Given the description of an element on the screen output the (x, y) to click on. 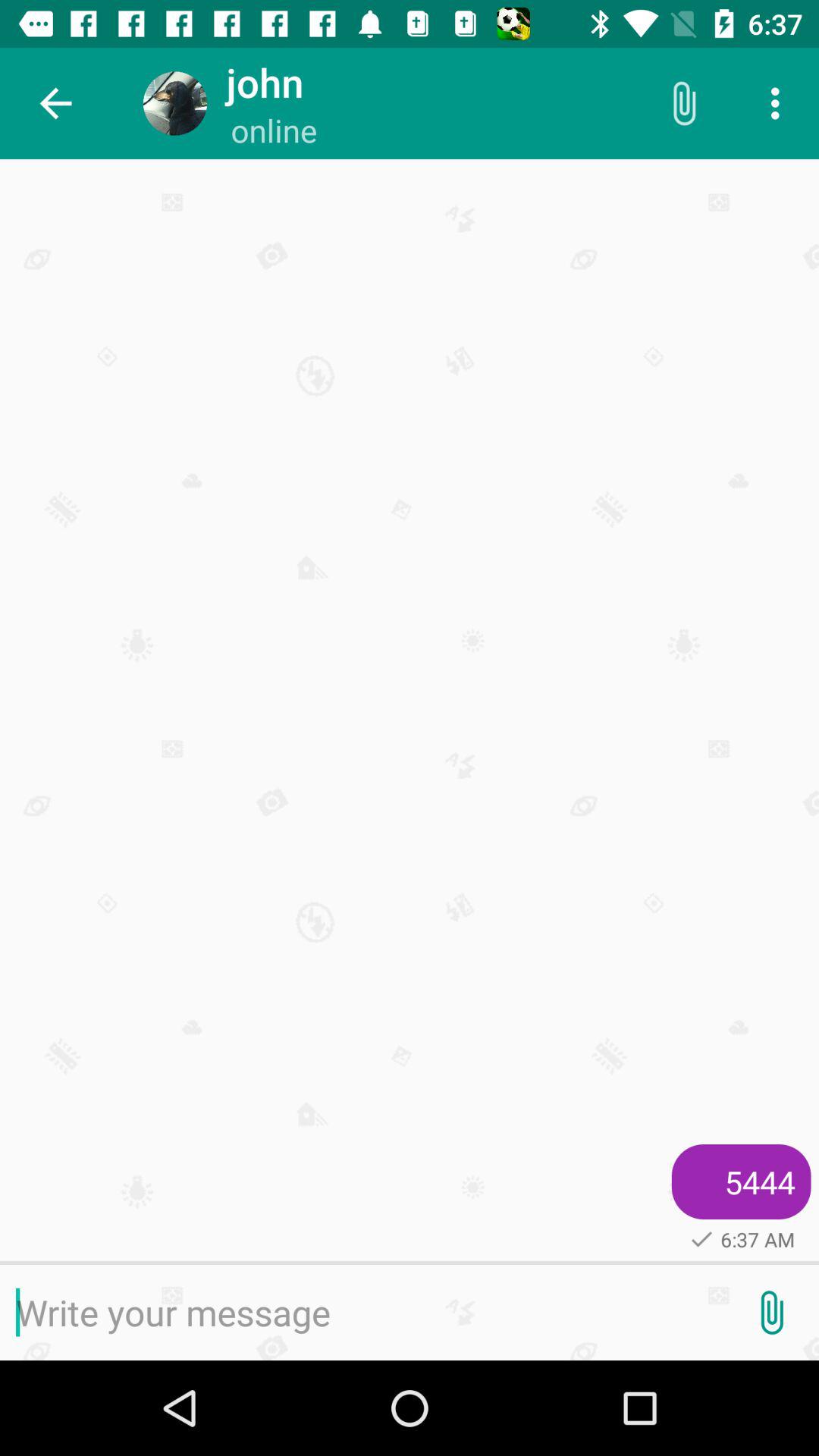
add attachment (771, 1312)
